Given the description of an element on the screen output the (x, y) to click on. 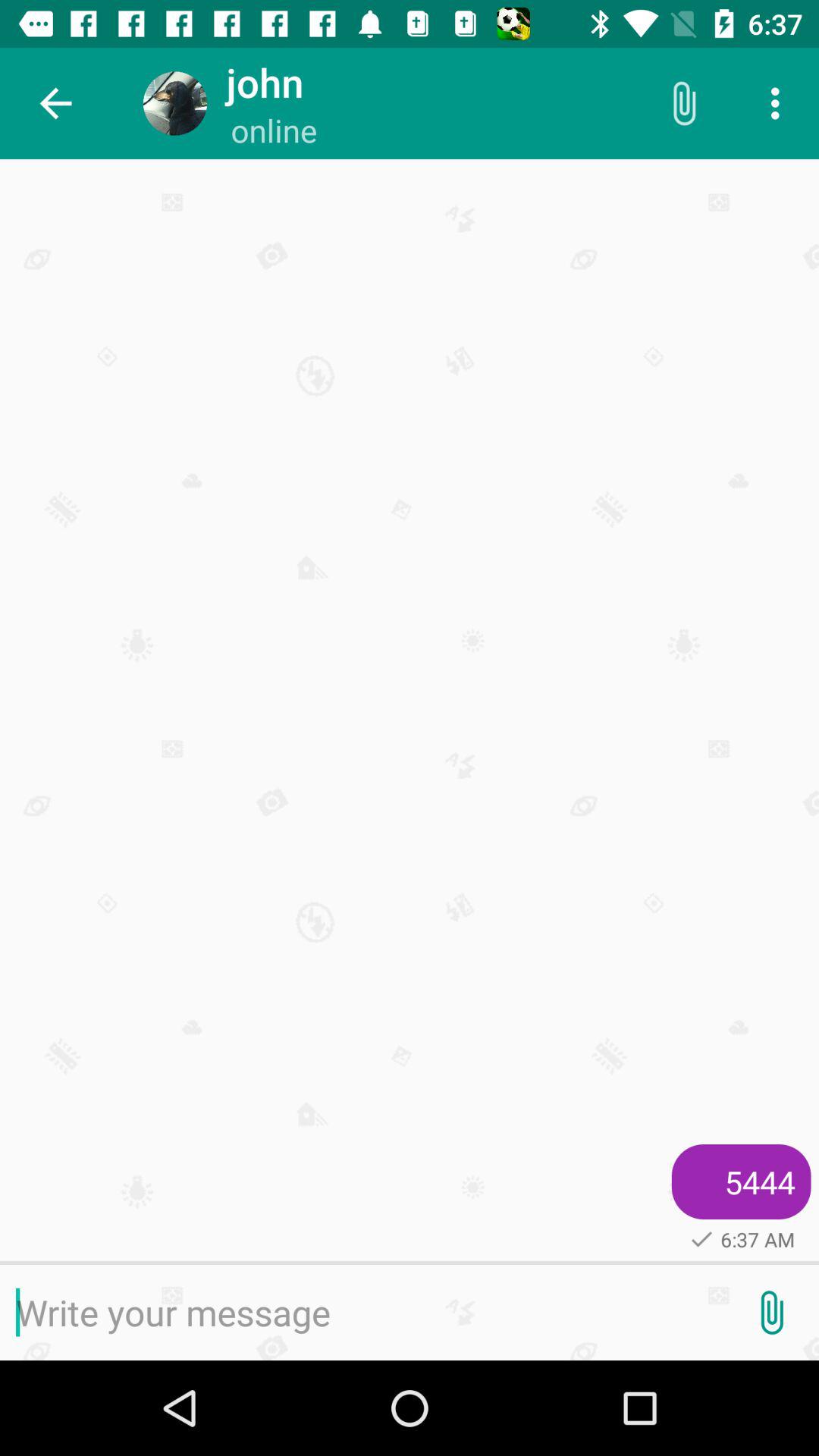
add attachment (771, 1312)
